Given the description of an element on the screen output the (x, y) to click on. 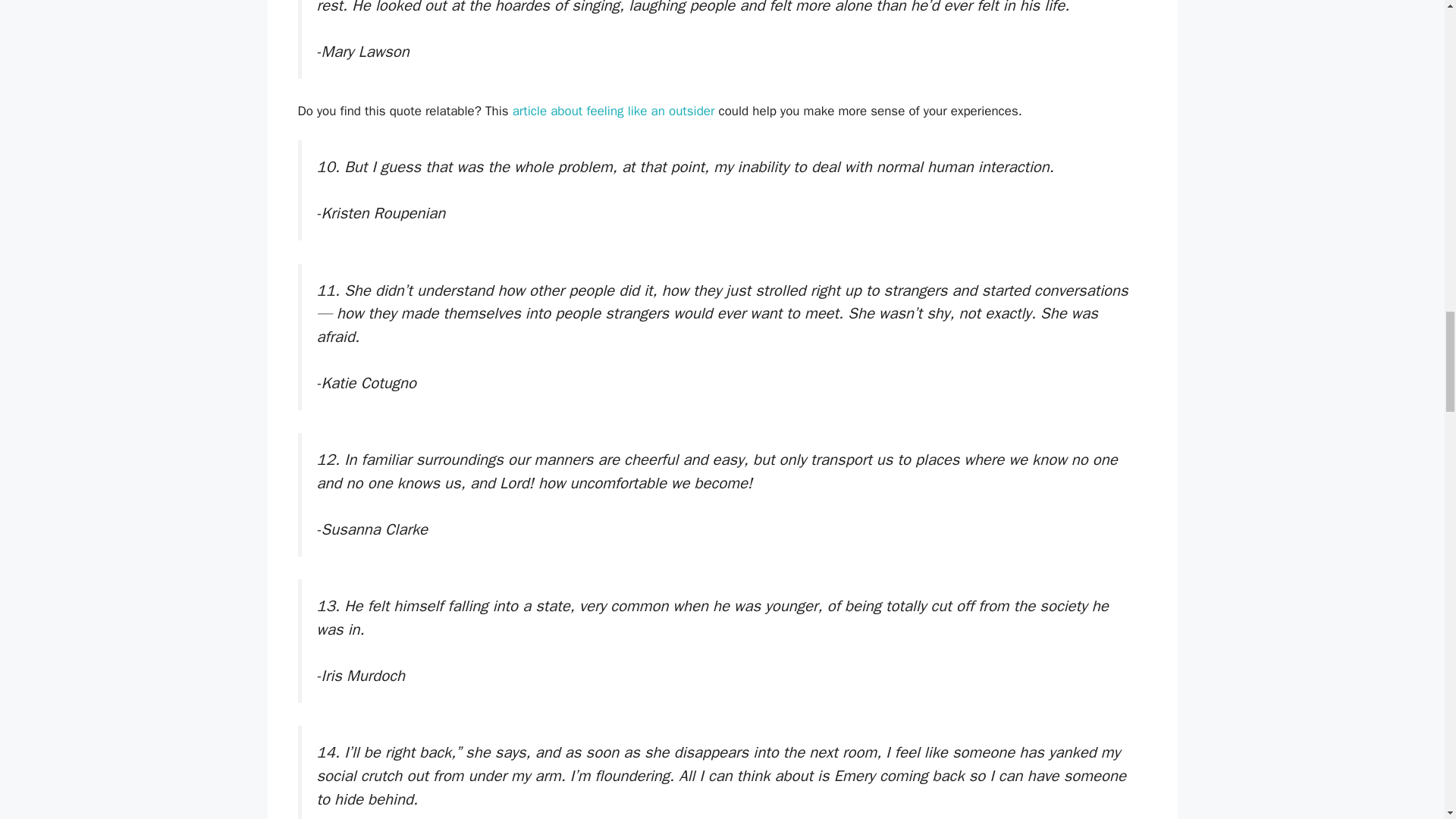
article about feeling like an outsider (613, 110)
